Given the description of an element on the screen output the (x, y) to click on. 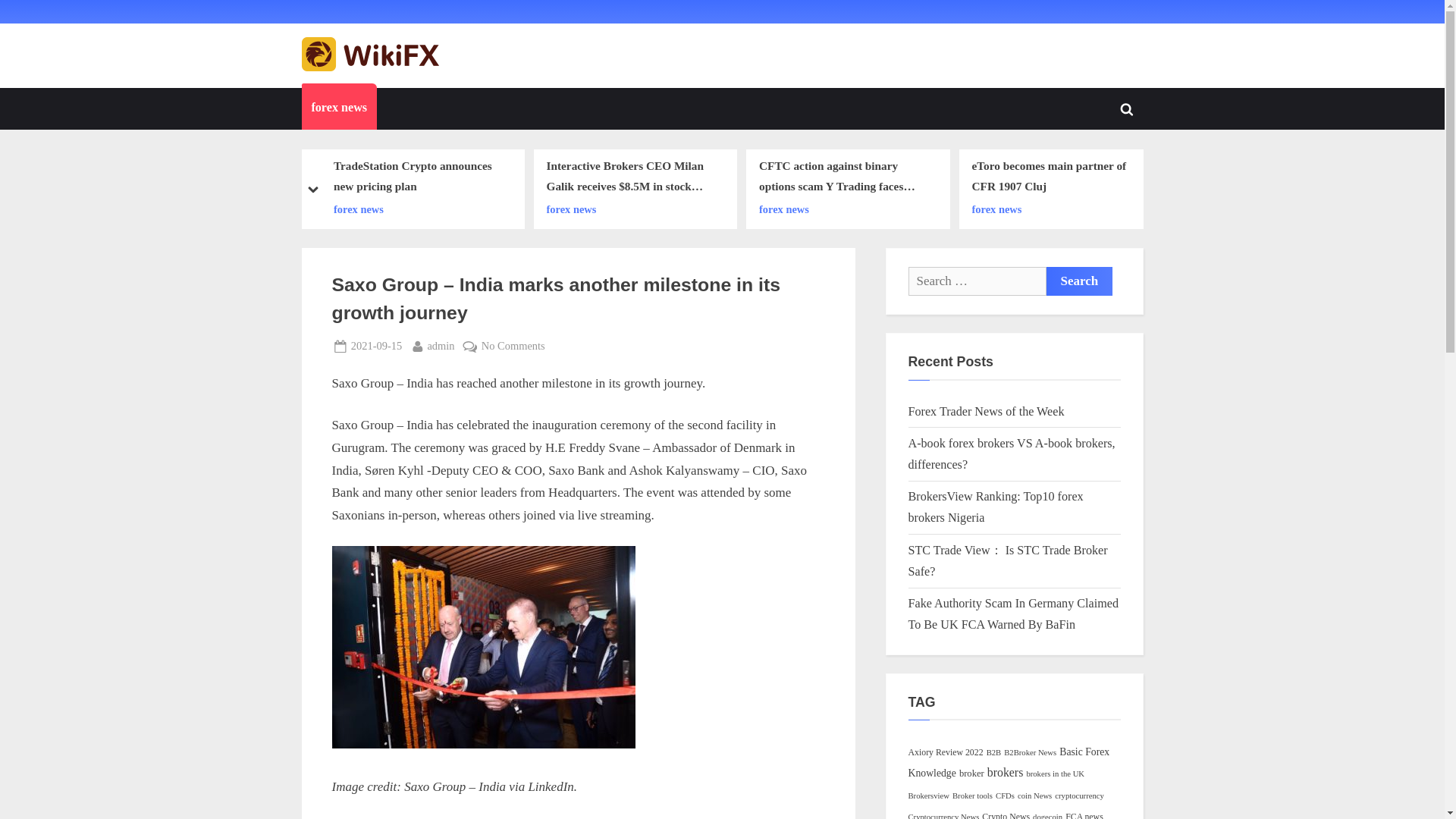
forex news (339, 108)
Toggle search form (1126, 108)
forex news (630, 208)
forex news (1055, 208)
forex news (417, 208)
TradeStation Crypto announces new pricing plan (417, 176)
forex news (842, 208)
eToro becomes main partner of CFR 1907 Cluj (1055, 176)
Search (1079, 280)
wikifx (471, 67)
